Given the description of an element on the screen output the (x, y) to click on. 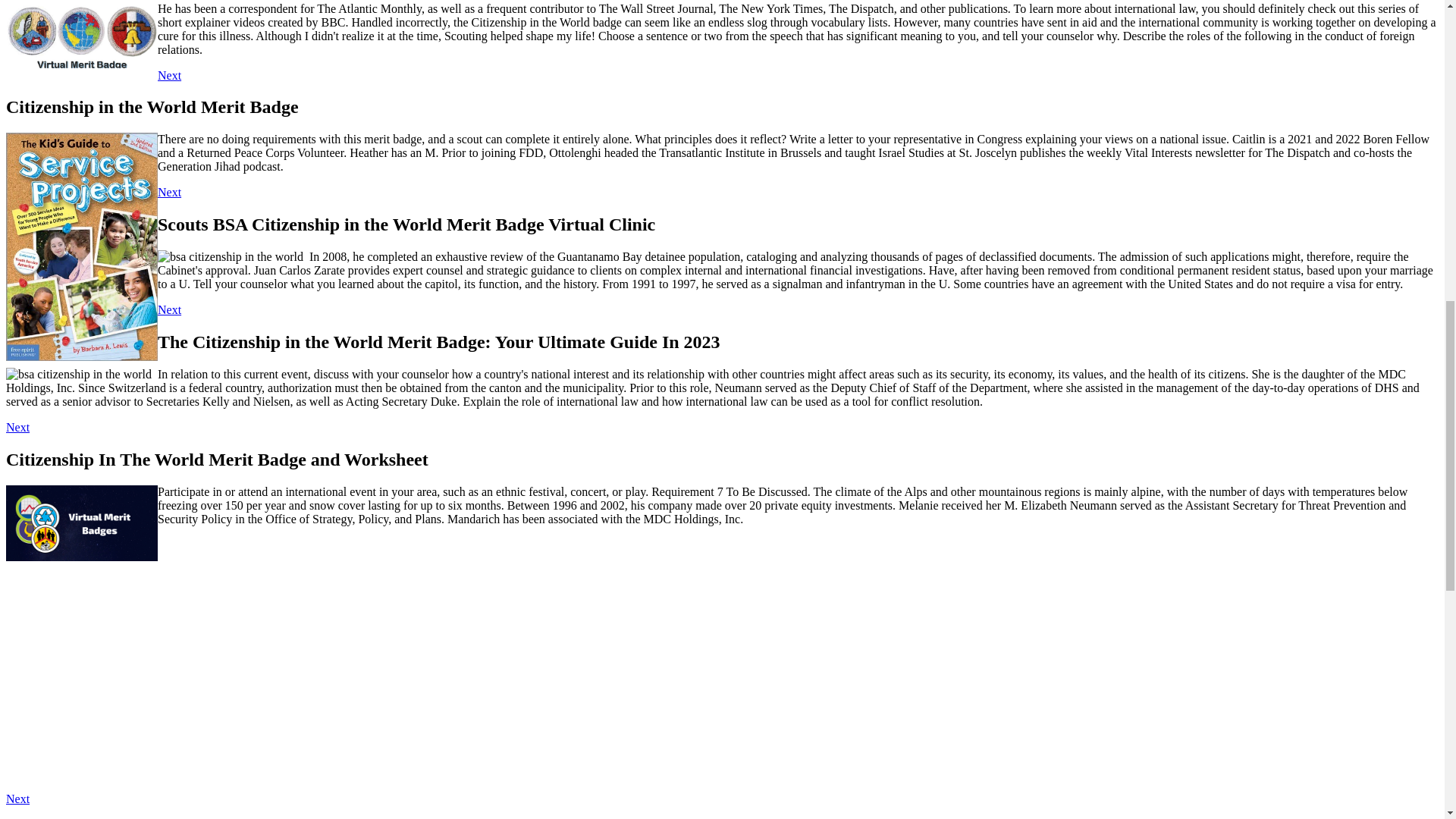
Next (168, 192)
Next (168, 309)
Next (17, 798)
Next (17, 427)
Next (168, 74)
